Given the description of an element on the screen output the (x, y) to click on. 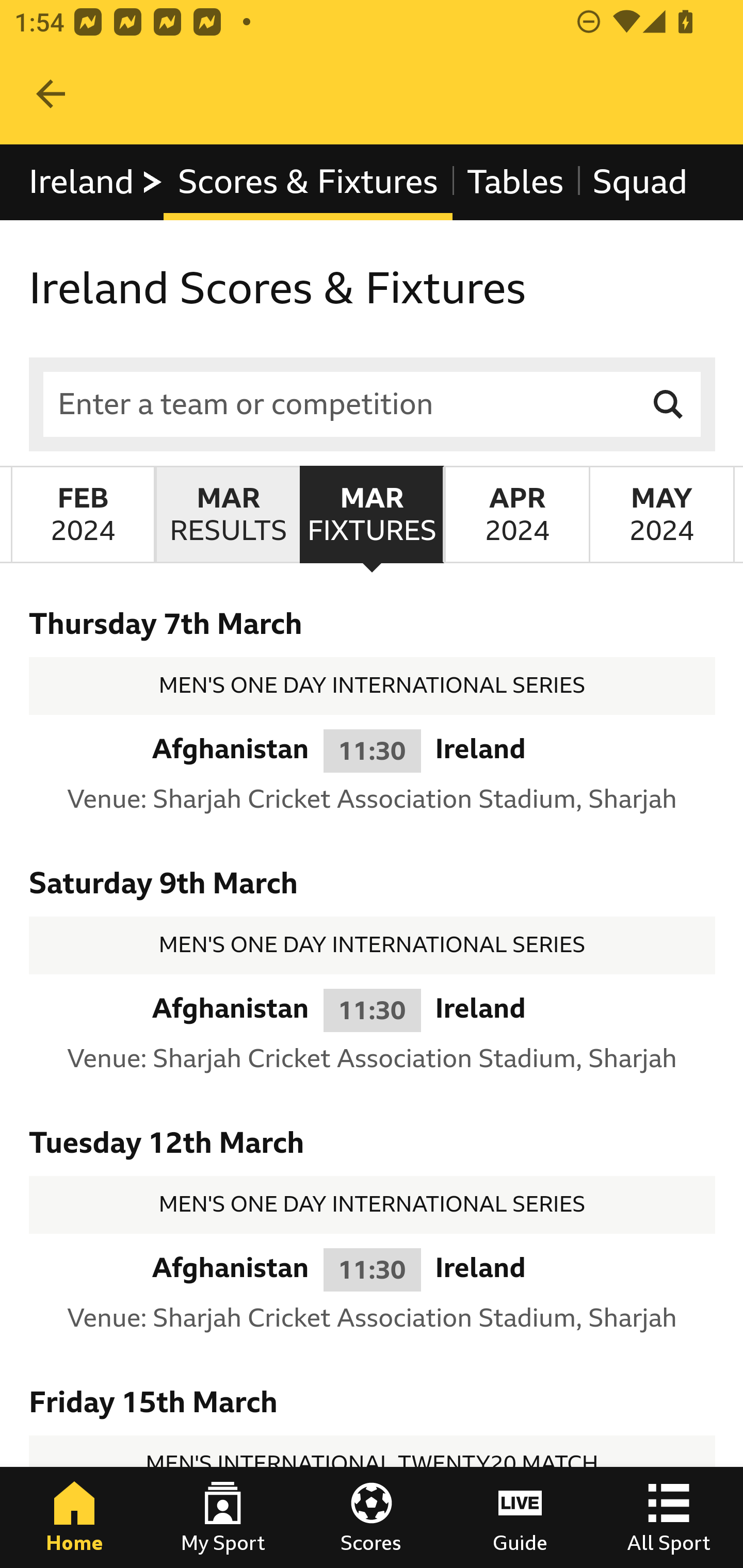
Navigate up (50, 93)
Ireland  (96, 181)
Scores & Fixtures (307, 181)
Tables (515, 181)
Squad (640, 181)
Search (669, 404)
February2024 February 2024 (83, 513)
MarchRESULTS March RESULTS (227, 513)
MarchFIXTURES, Selected March FIXTURES , Selected (371, 513)
April2024 April 2024 (516, 513)
May2024 May 2024 (661, 513)
My Sport (222, 1517)
Scores (371, 1517)
Guide (519, 1517)
All Sport (668, 1517)
